Given the description of an element on the screen output the (x, y) to click on. 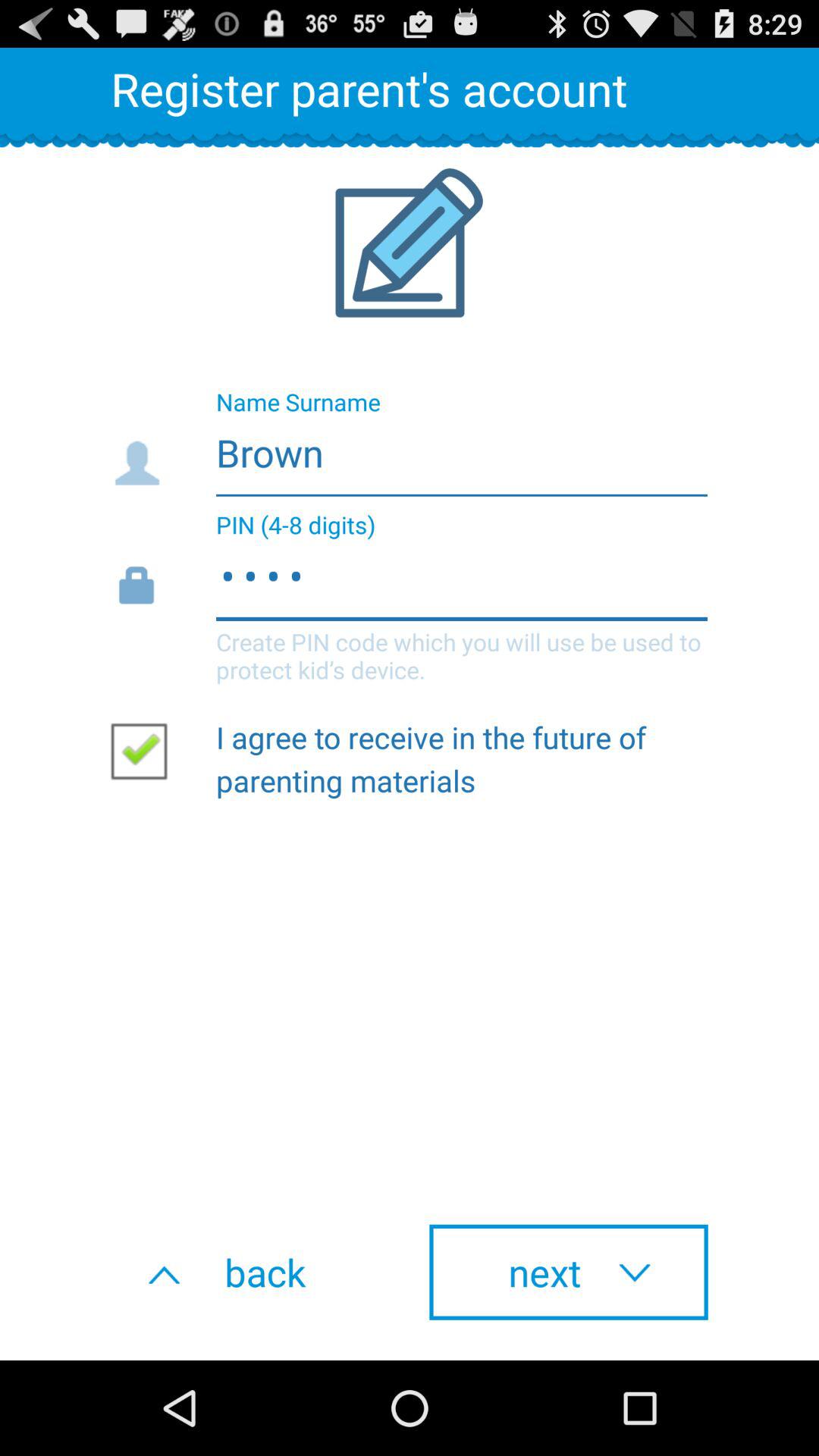
swipe until the next (568, 1272)
